Given the description of an element on the screen output the (x, y) to click on. 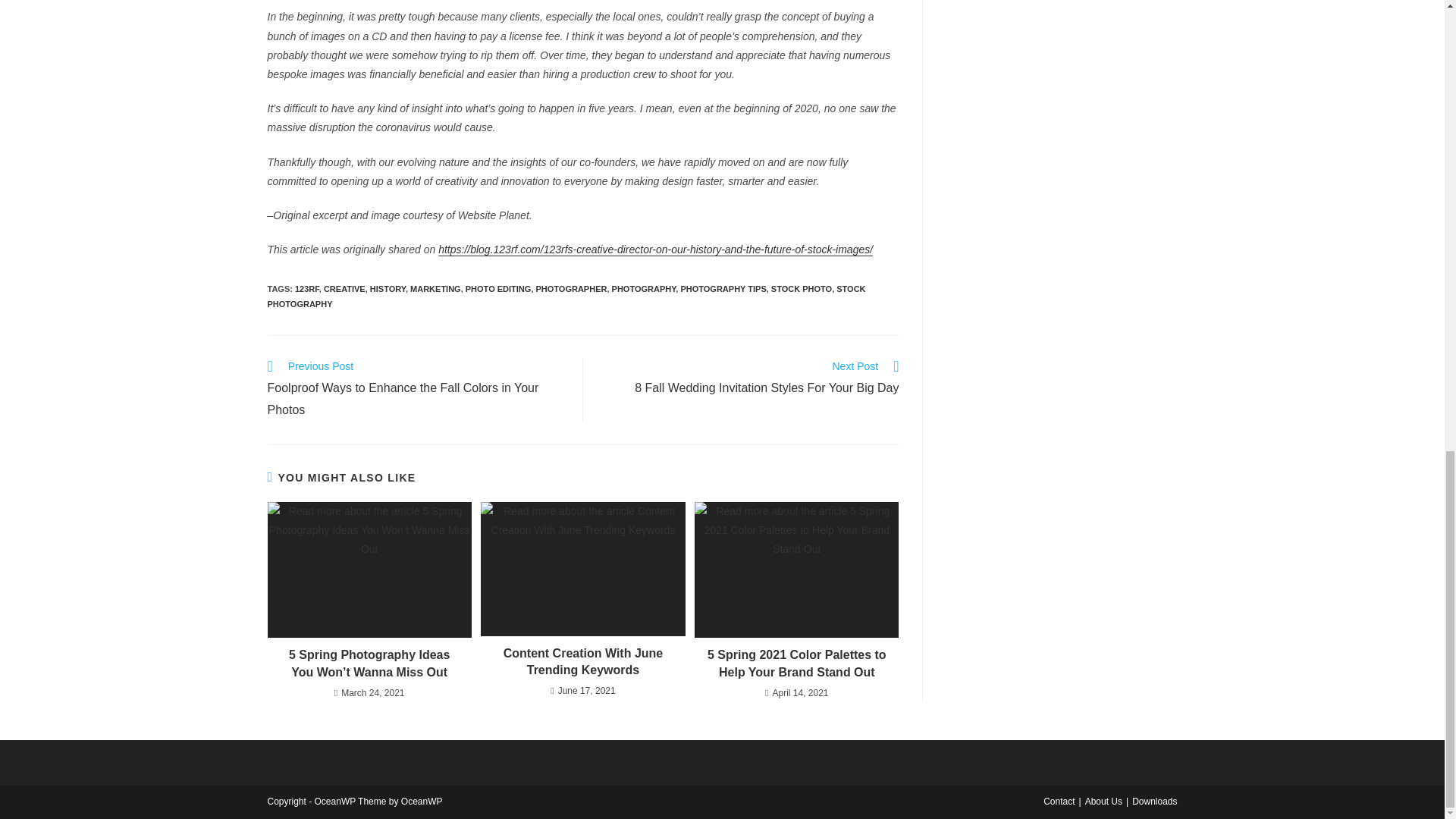
PHOTOGRAPHER (571, 288)
STOCK PHOTO (801, 288)
123RF (306, 288)
5 Spring 2021 Color Palettes to Help Your Brand Stand Out (796, 663)
Content Creation With June Trending Keywords (582, 662)
HISTORY (387, 288)
PHOTOGRAPHY (644, 288)
MARKETING (435, 288)
PHOTO EDITING (498, 288)
